Given the description of an element on the screen output the (x, y) to click on. 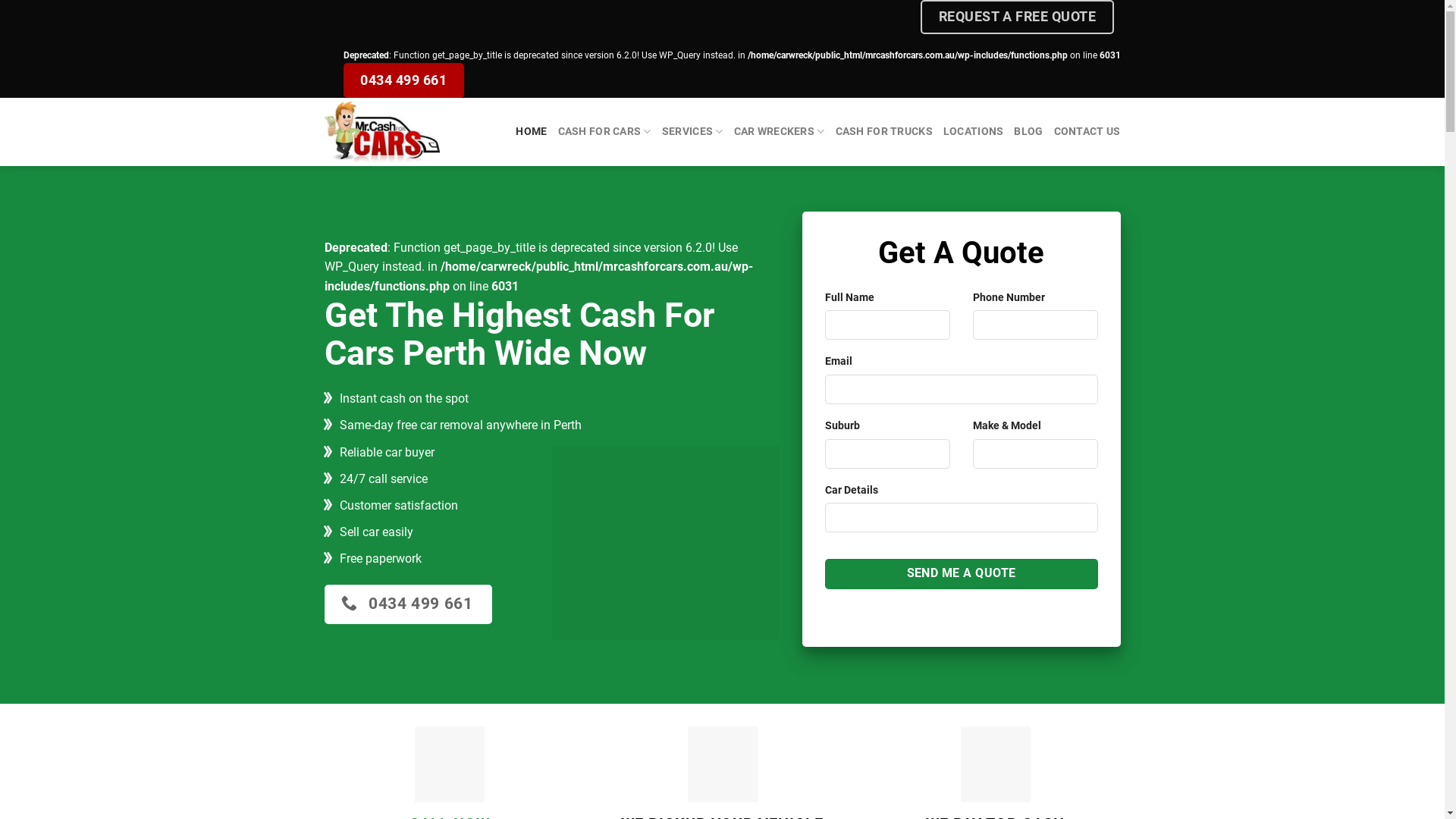
CAR WRECKERS Element type: text (779, 131)
0434 499 661 Element type: text (403, 79)
Send me a quote Element type: text (961, 573)
CASH FOR CARS Element type: text (604, 131)
Skip to content Element type: text (0, 0)
BLOG Element type: text (1027, 131)
CONTACT US Element type: text (1087, 131)
MR CASH FOR CARS Element type: hover (400, 131)
CASH FOR TRUCKS Element type: text (883, 131)
REQUEST A FREE QUOTE Element type: text (1016, 17)
LOCATIONS Element type: text (973, 131)
HOME Element type: text (530, 131)
SERVICES Element type: text (692, 131)
0434 499 661 Element type: text (408, 604)
